Given the description of an element on the screen output the (x, y) to click on. 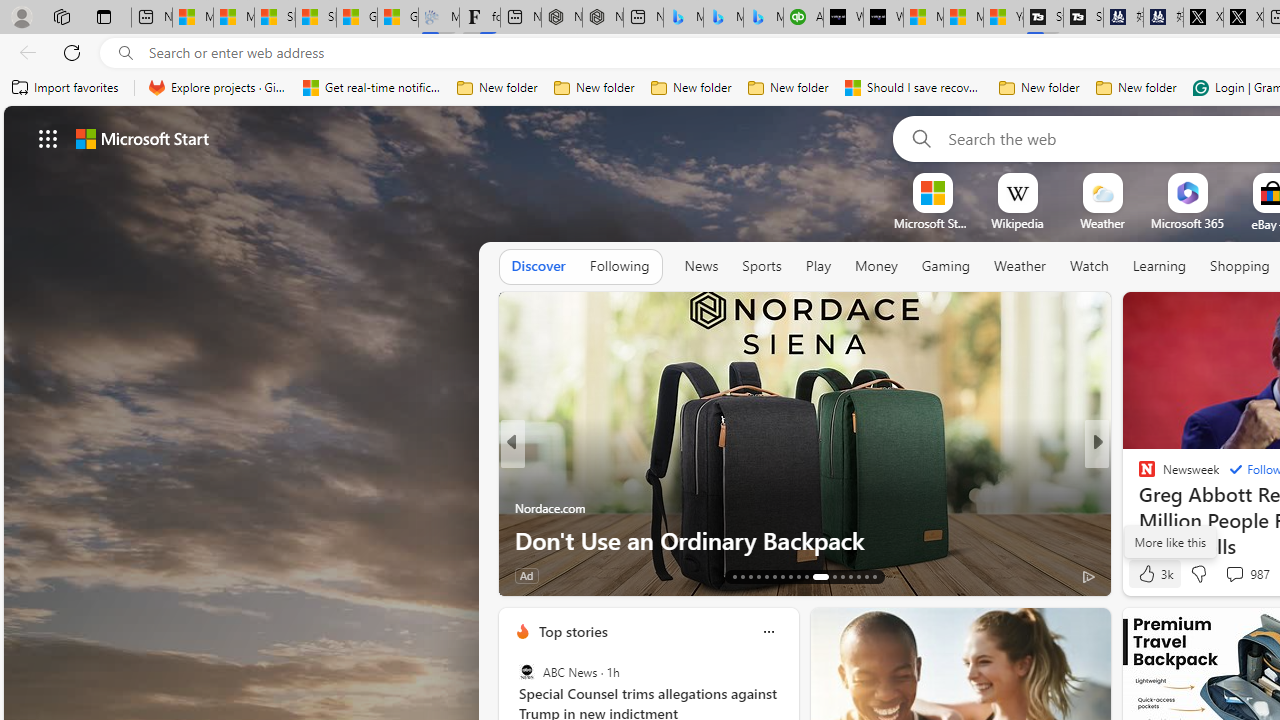
79 Like (1149, 574)
X (1243, 17)
Microsoft Start Sports (923, 17)
Play (818, 267)
What's the best AI voice generator? - voice.ai (883, 17)
Gilma and Hector both pose tropical trouble for Hawaii (397, 17)
Microsoft Bing Travel - Stays in Bangkok, Bangkok, Thailand (723, 17)
View comments 156 Comment (11, 575)
AutomationID: waffle (47, 138)
Microsoft start (142, 138)
ABC News (526, 672)
Class: icon-img (768, 632)
View comments 52 Comment (1237, 574)
